Given the description of an element on the screen output the (x, y) to click on. 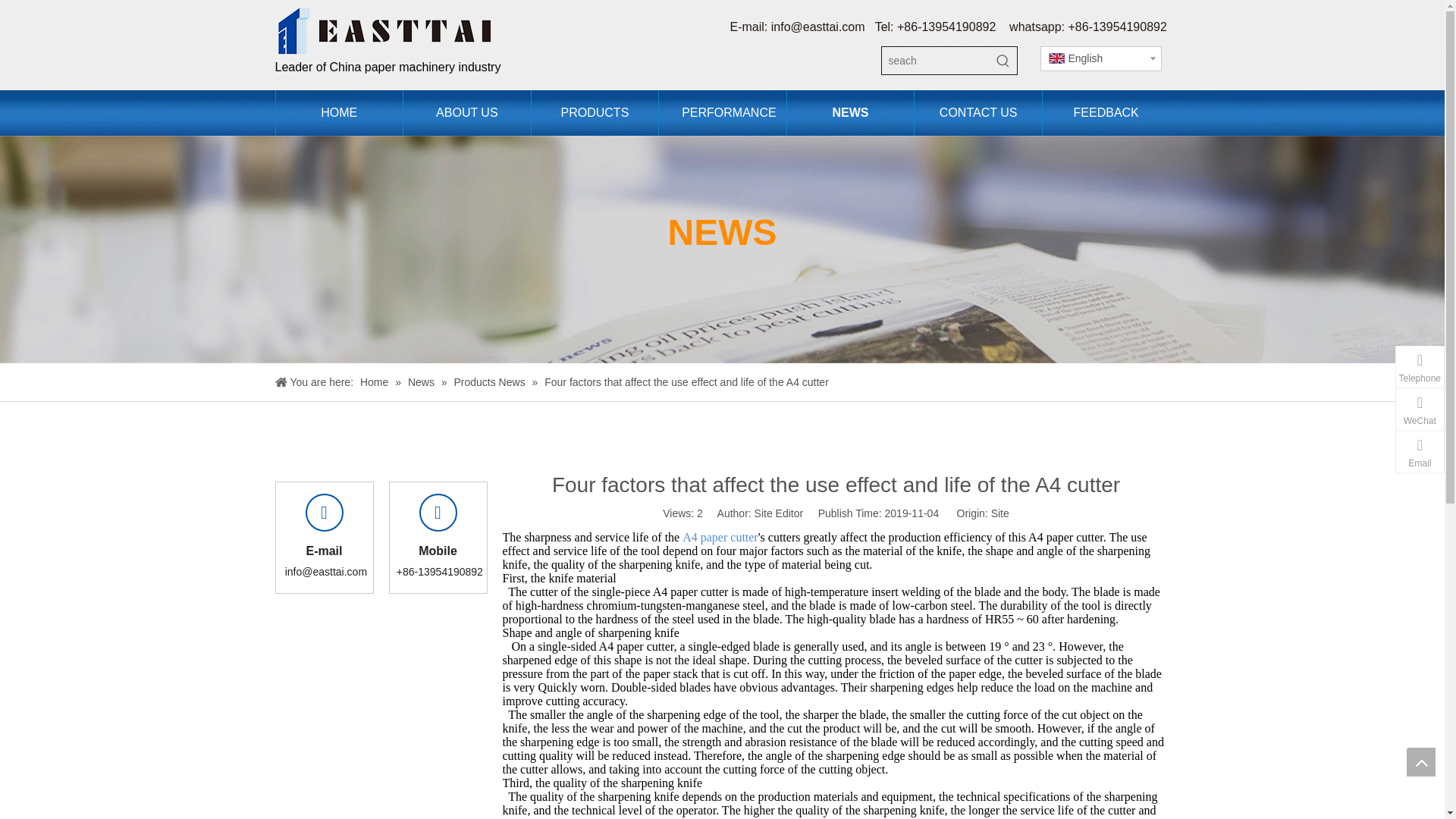
CONTACT US (978, 112)
NEWS (850, 112)
ABOUT US (467, 112)
A4 paper cutter (720, 536)
HOME (339, 112)
Home (375, 381)
News (422, 381)
Products News (489, 381)
Site (1000, 512)
A4 paper cutter (720, 536)
FEEDBACK (1106, 112)
PRODUCTS (595, 112)
PERFORMANCE (722, 112)
